Given the description of an element on the screen output the (x, y) to click on. 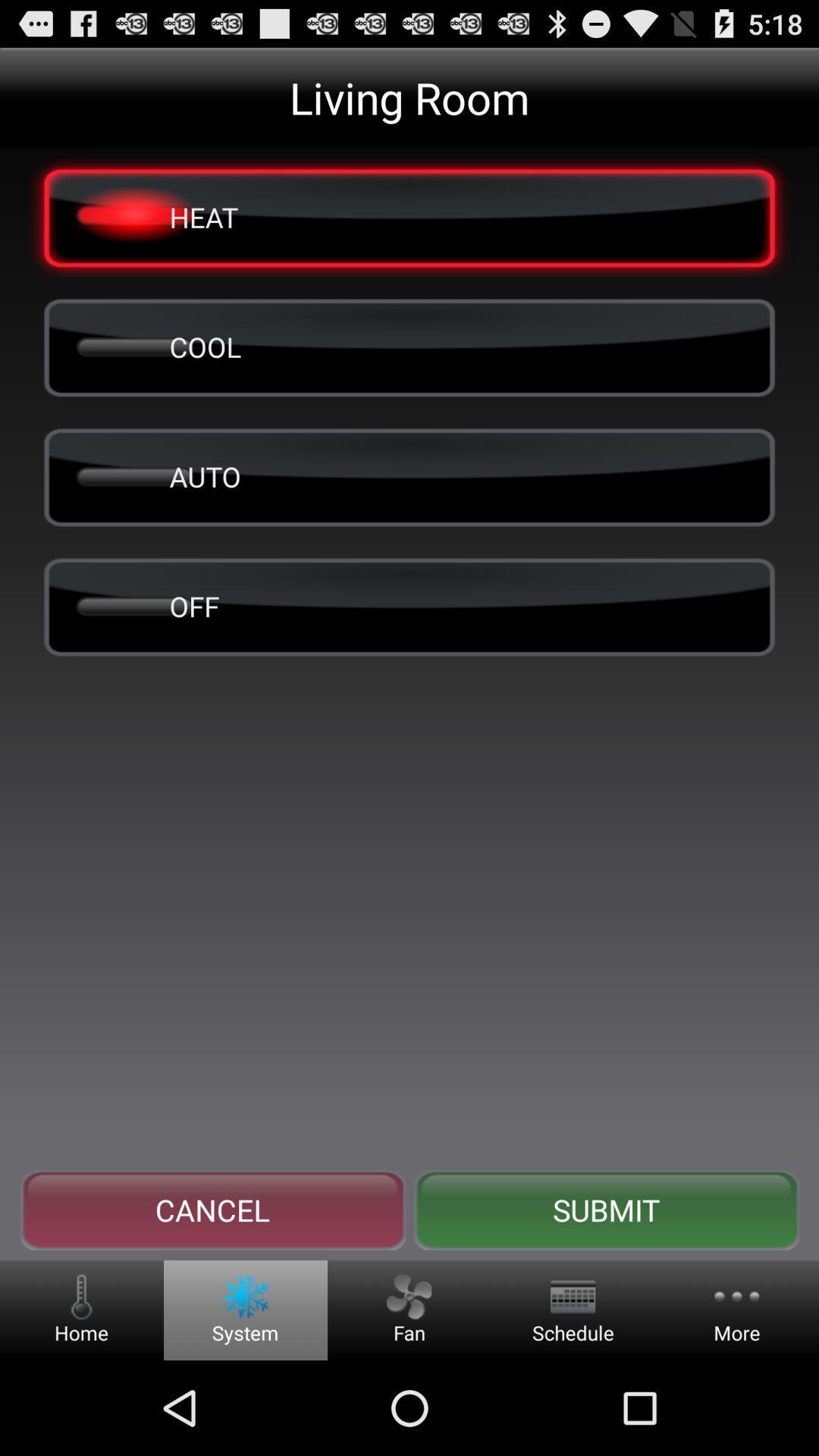
scroll until submit (606, 1210)
